Given the description of an element on the screen output the (x, y) to click on. 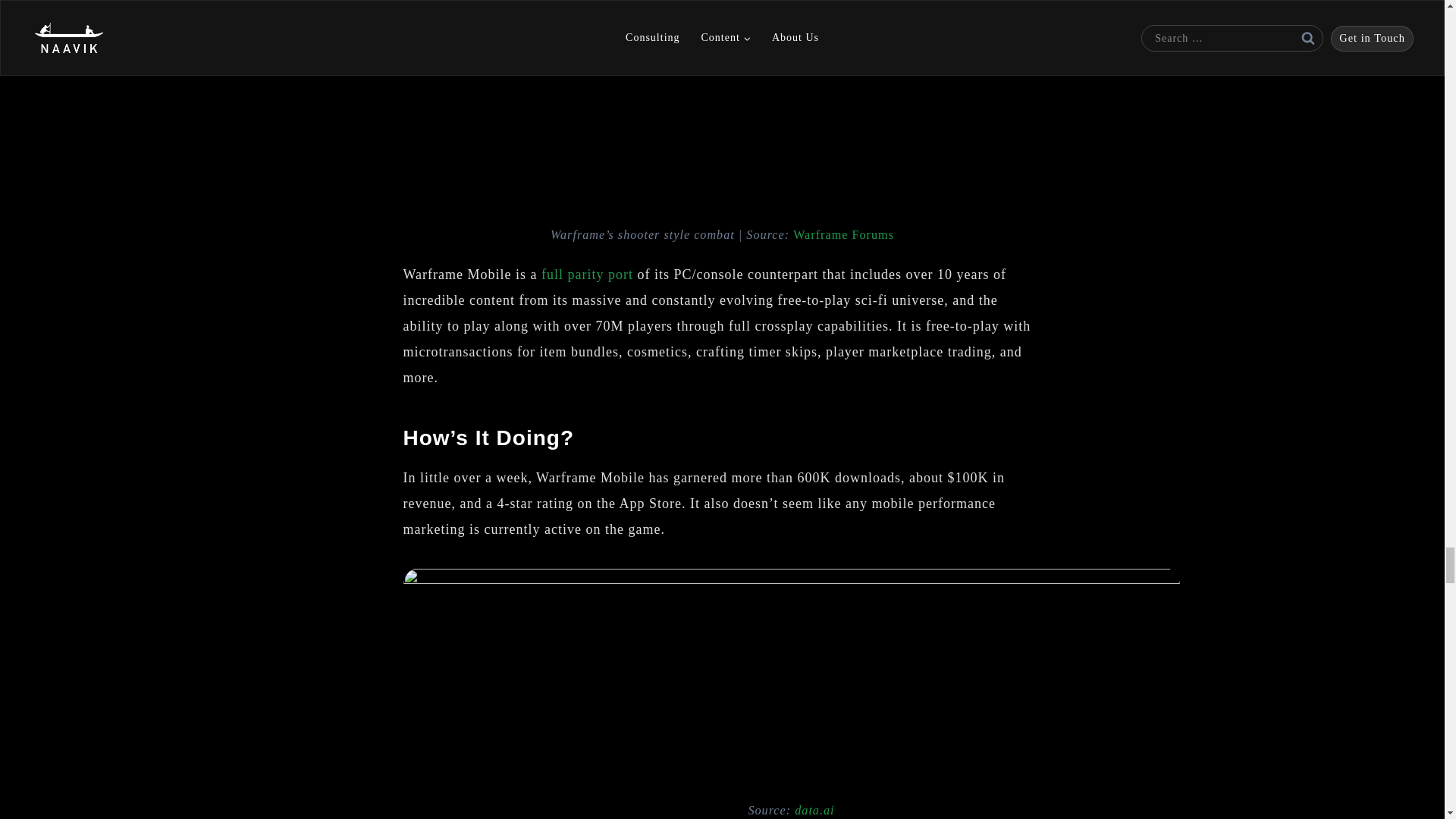
full parity port (587, 273)
data.ai (814, 810)
Warframe Forums (843, 234)
